Given the description of an element on the screen output the (x, y) to click on. 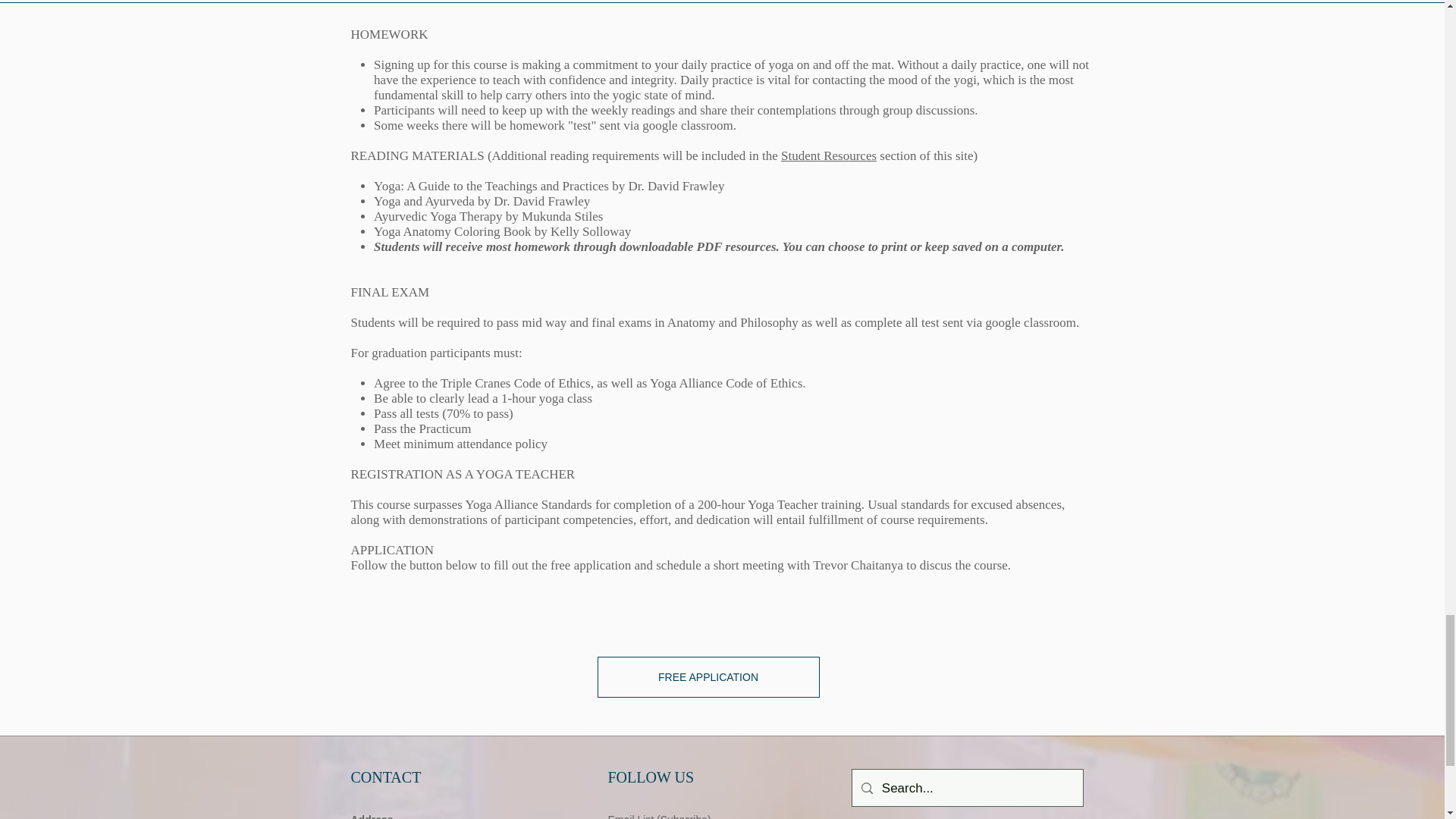
Student Resources (828, 155)
FREE APPLICATION (707, 676)
